Given the description of an element on the screen output the (x, y) to click on. 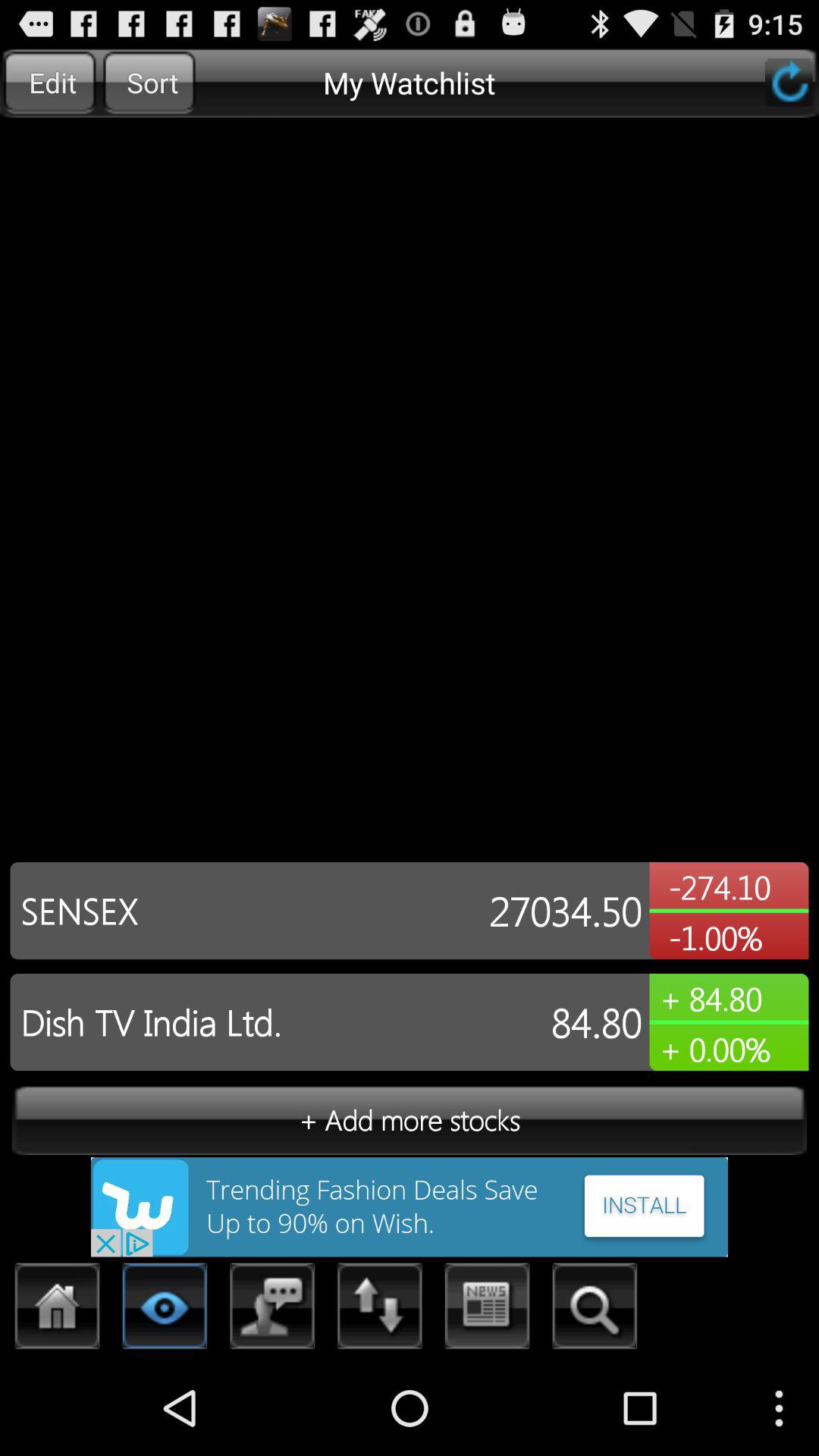
search option (594, 1310)
